Given the description of an element on the screen output the (x, y) to click on. 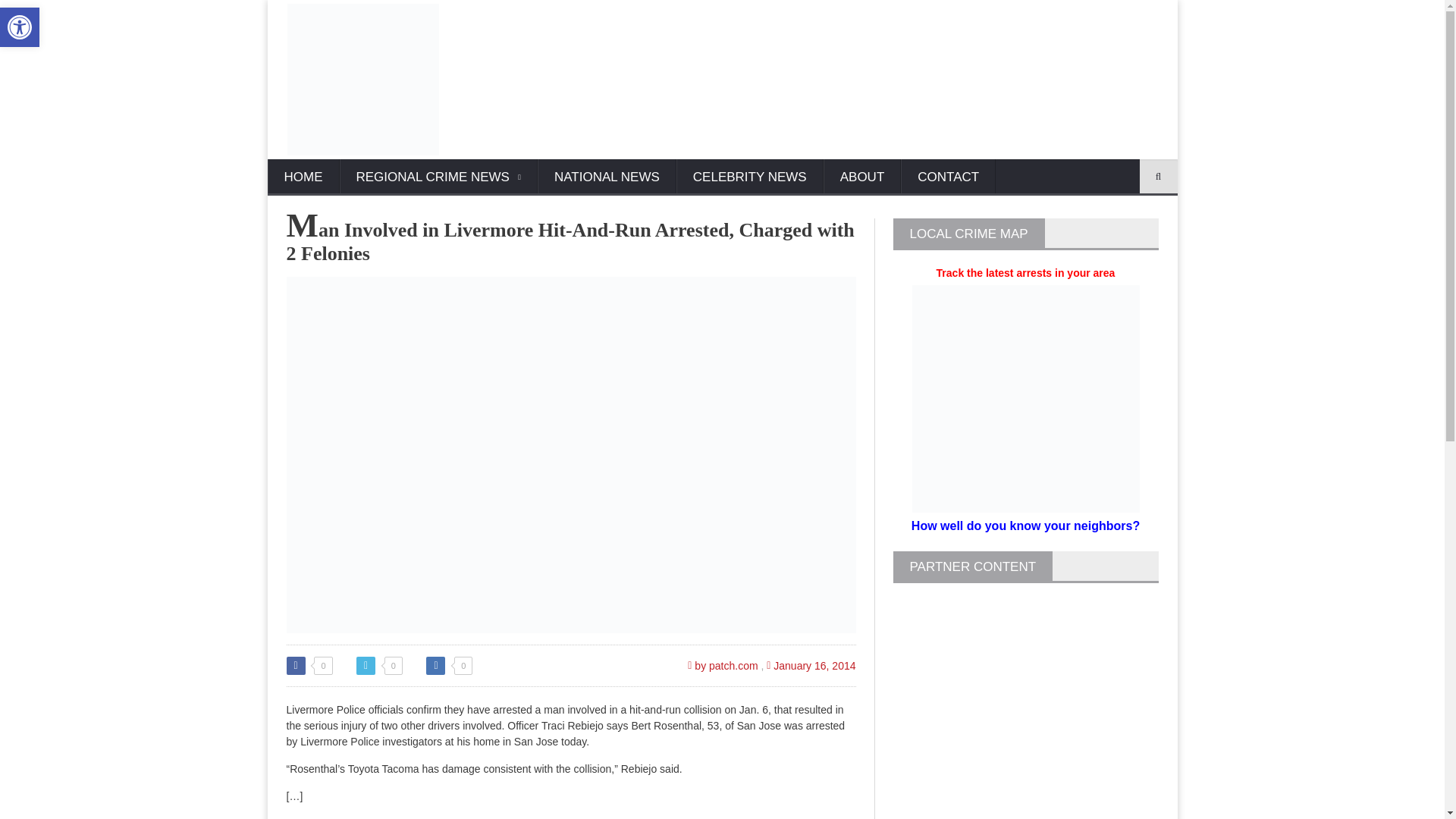
Accessibility Tools (19, 27)
0 (448, 665)
NATIONAL NEWS (607, 176)
0 (379, 665)
Celebrity Arrest News (750, 176)
HOME (302, 176)
0 (309, 665)
Posts by patch.com (722, 665)
ABOUT (862, 176)
CELEBRITY NEWS (750, 176)
